Given the description of an element on the screen output the (x, y) to click on. 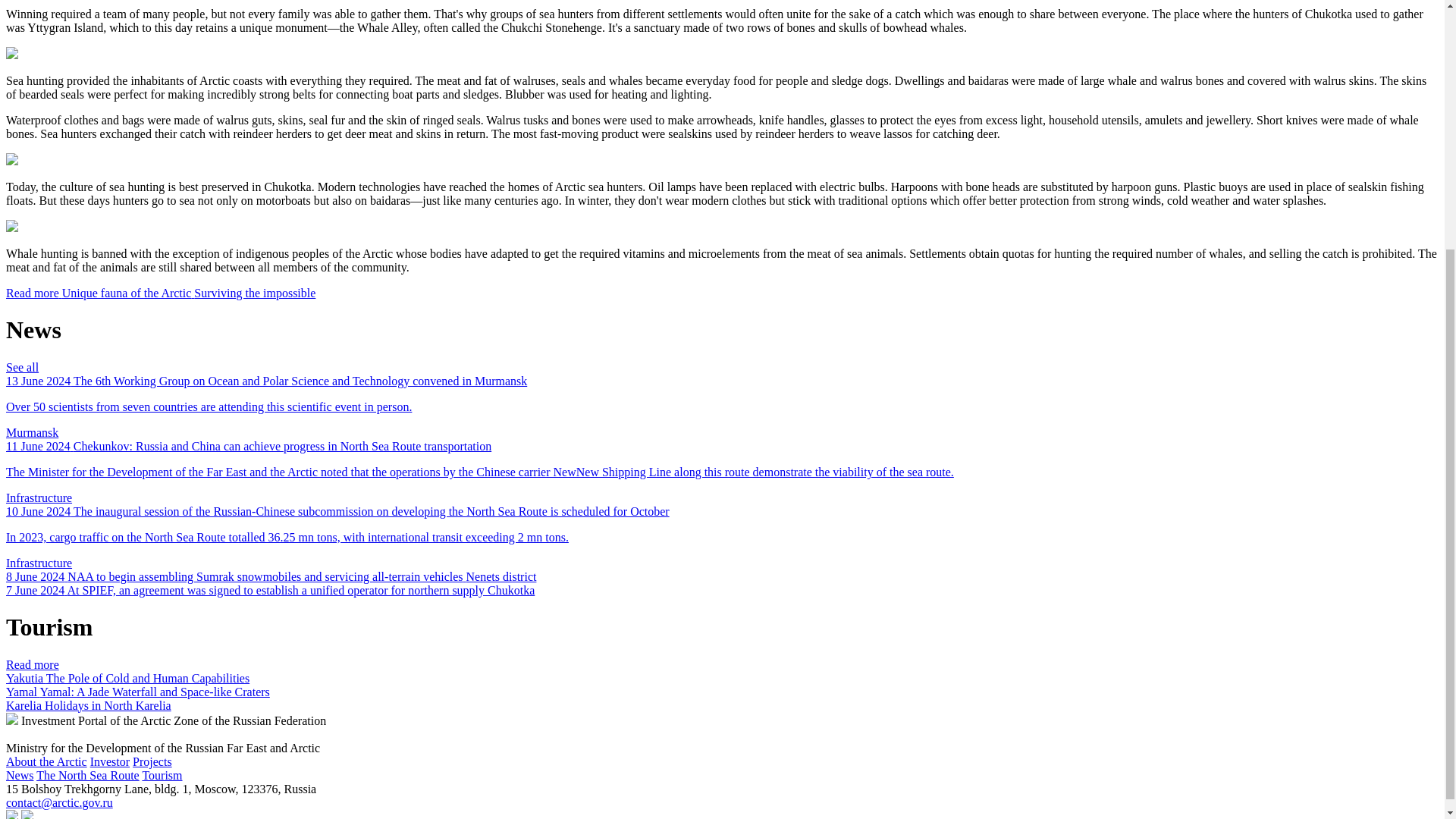
See all (22, 367)
About the Arctic (46, 761)
The North Sea Route (87, 775)
Read more (32, 664)
Investor (109, 761)
Tourism (161, 775)
Projects (151, 761)
News (19, 775)
